Given the description of an element on the screen output the (x, y) to click on. 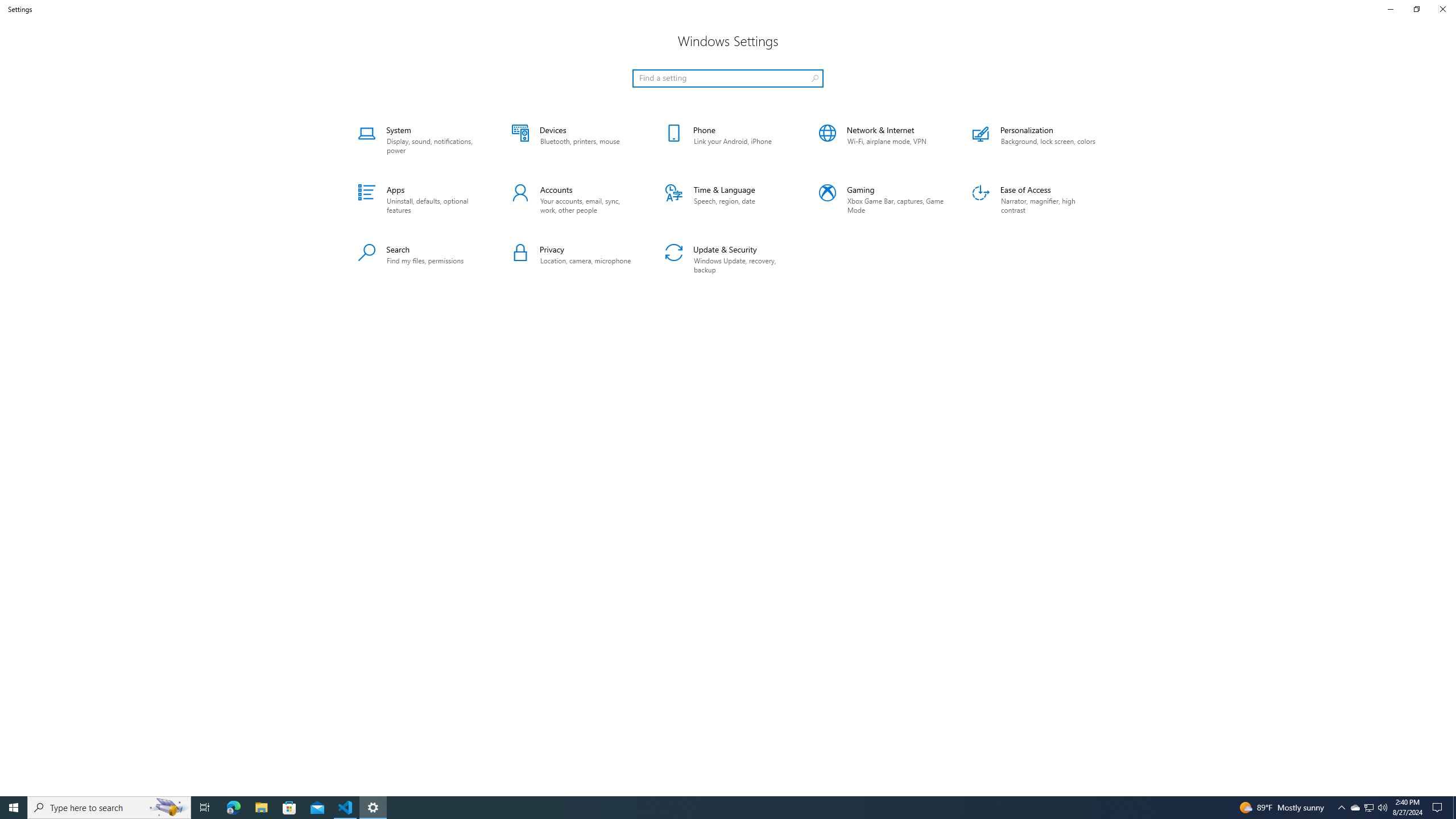
Update & Security (727, 259)
Running applications (717, 807)
Restore Settings (1416, 9)
Privacy (574, 259)
Minimize Settings (1390, 9)
Apps (420, 200)
